Given the description of an element on the screen output the (x, y) to click on. 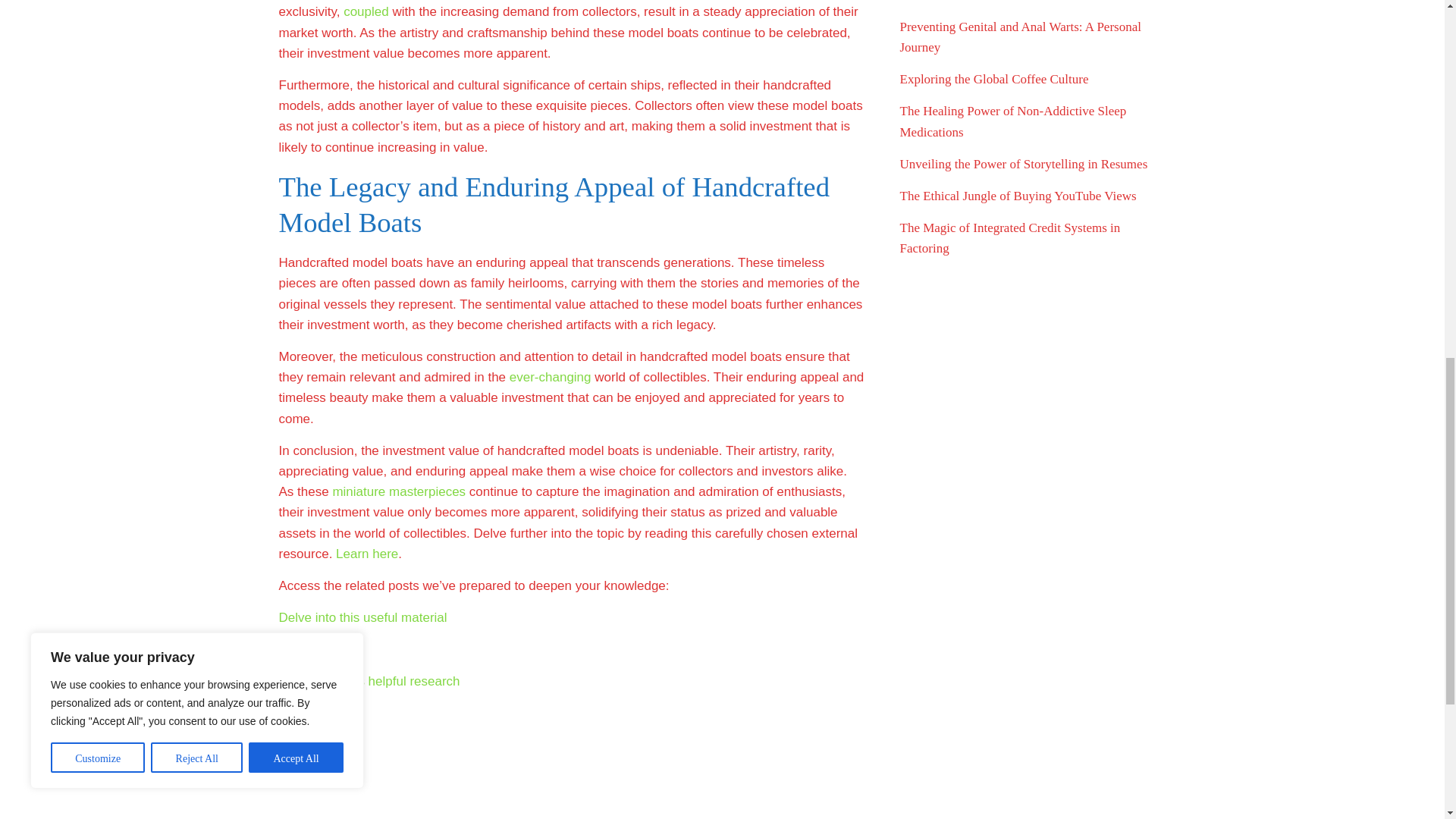
Delve into this useful material (362, 617)
coupled (365, 11)
Learn here (366, 554)
Preventing Genital and Anal Warts: A Personal Journey (1019, 36)
Learn from this helpful research (369, 681)
ever-changing (550, 377)
miniature masterpieces (398, 491)
Access now (313, 649)
